Given the description of an element on the screen output the (x, y) to click on. 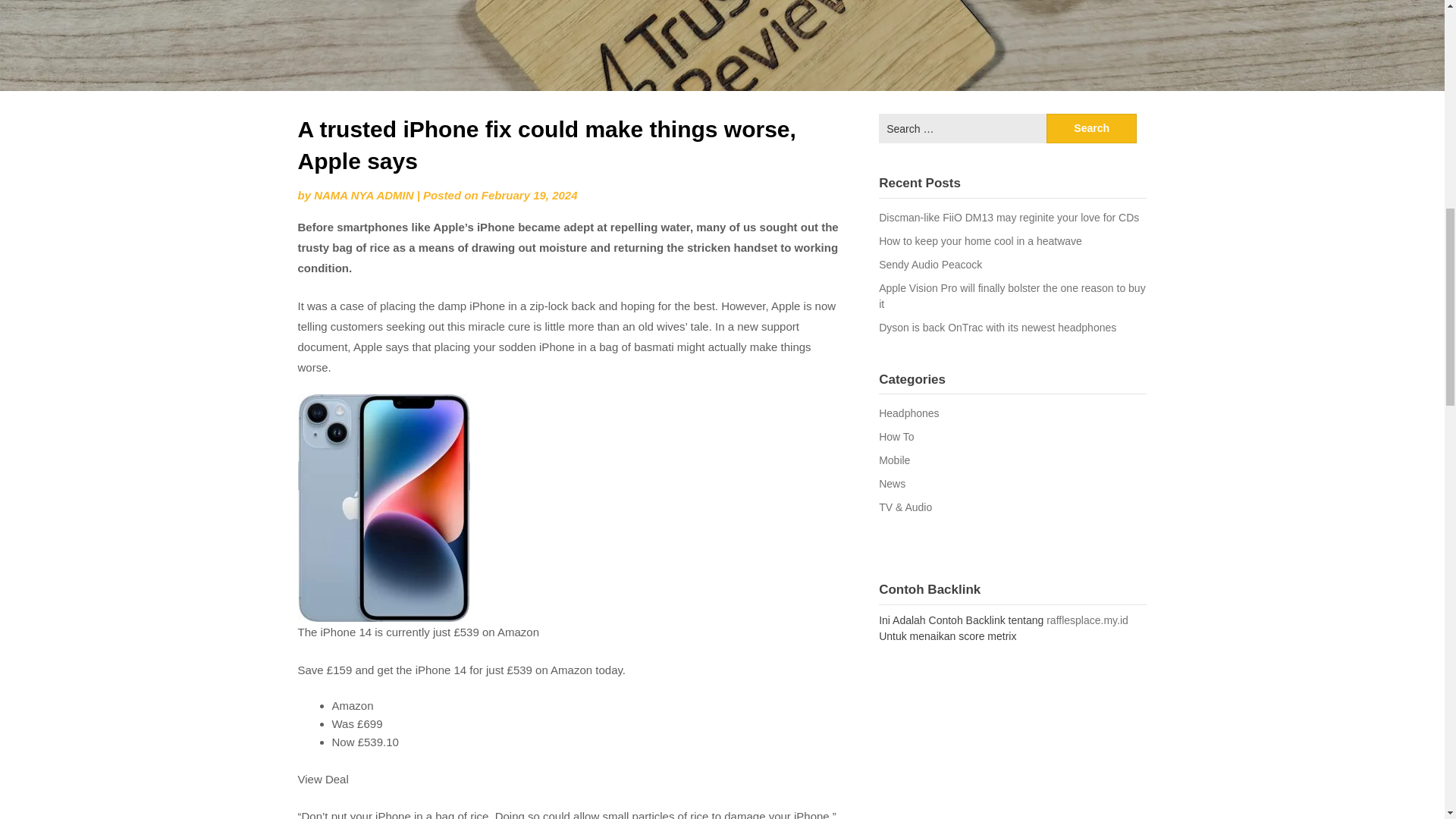
Sendy Audio Peacock (930, 264)
Search (1091, 128)
Dyson is back OnTrac with its newest headphones (997, 327)
How to keep your home cool in a heatwave (980, 241)
Headphones (909, 413)
Discman-like FiiO DM13 may reginite your love for CDs (1008, 217)
NAMA NYA ADMIN (363, 195)
Search (1091, 128)
February 19, 2024 (529, 195)
Search (1091, 128)
